Given the description of an element on the screen output the (x, y) to click on. 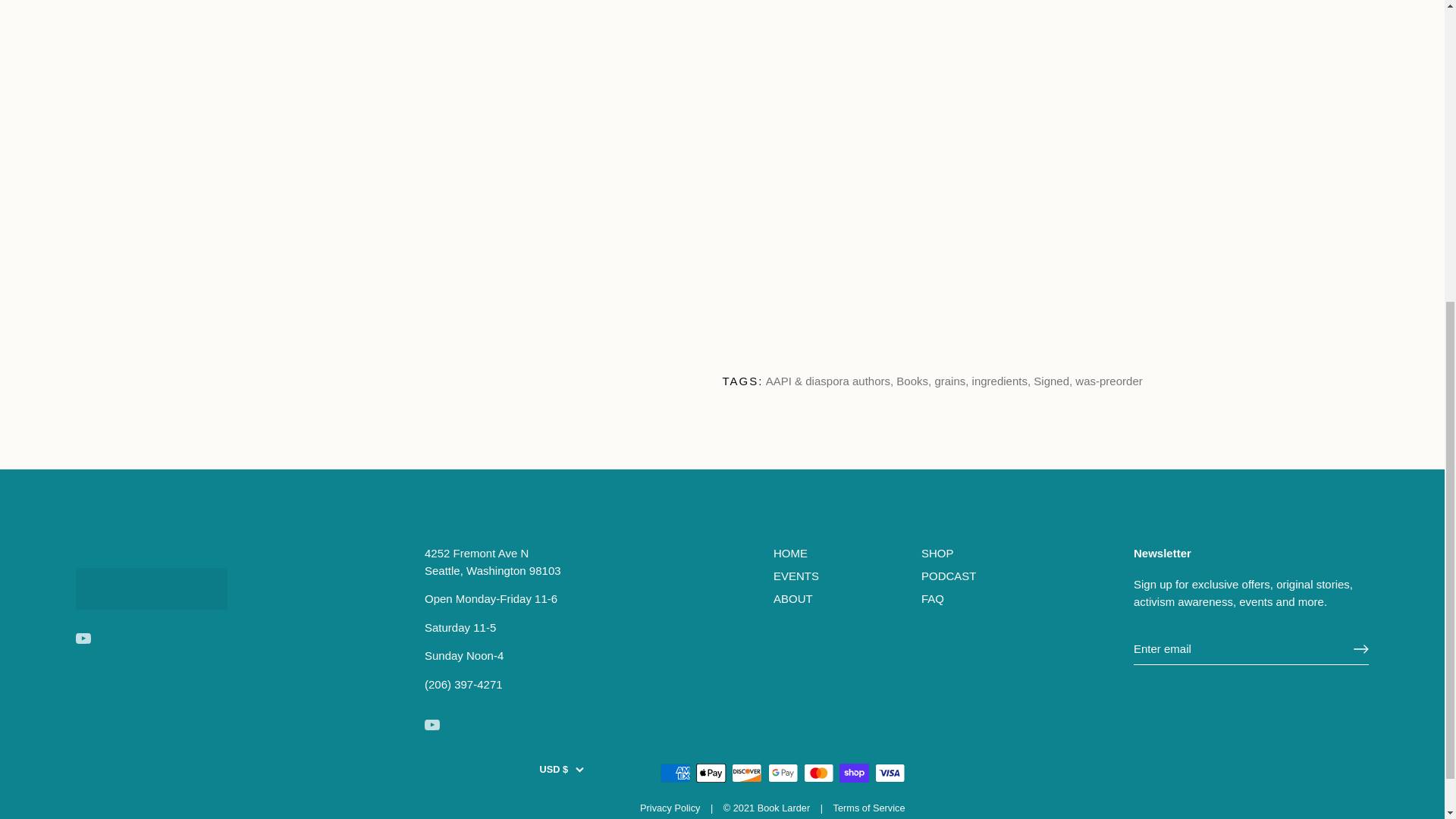
RIGHT ARROW LONG (1361, 648)
Apple Pay (710, 772)
American Express (675, 772)
Discover (746, 772)
Mastercard (818, 772)
Shop Pay (854, 772)
Google Pay (782, 772)
Visa (890, 772)
Youtube (432, 724)
Youtube (82, 638)
